Given the description of an element on the screen output the (x, y) to click on. 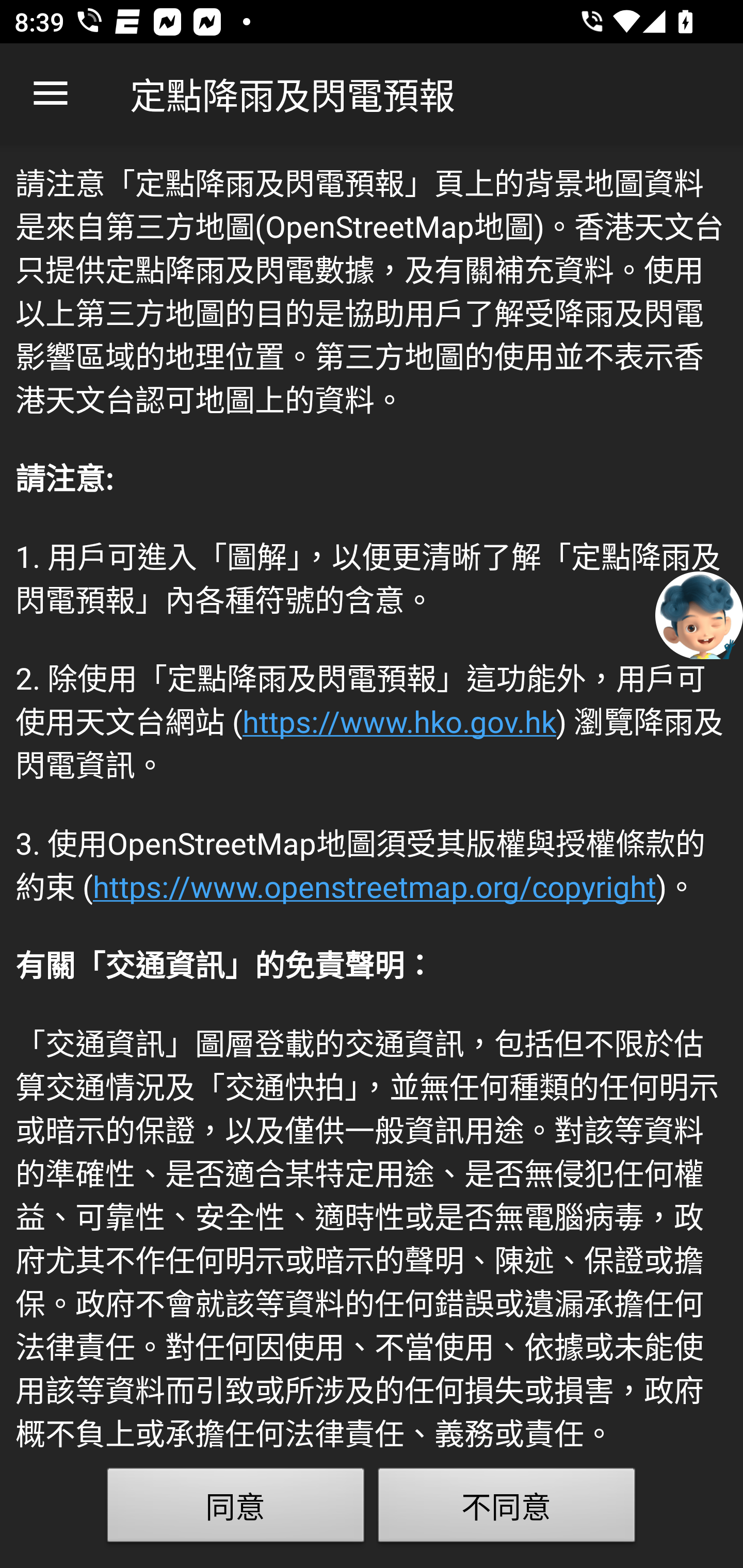
向上瀏覽 (50, 93)
聊天機械人 (699, 614)
同意 (235, 1509)
不同意 (506, 1509)
